Given the description of an element on the screen output the (x, y) to click on. 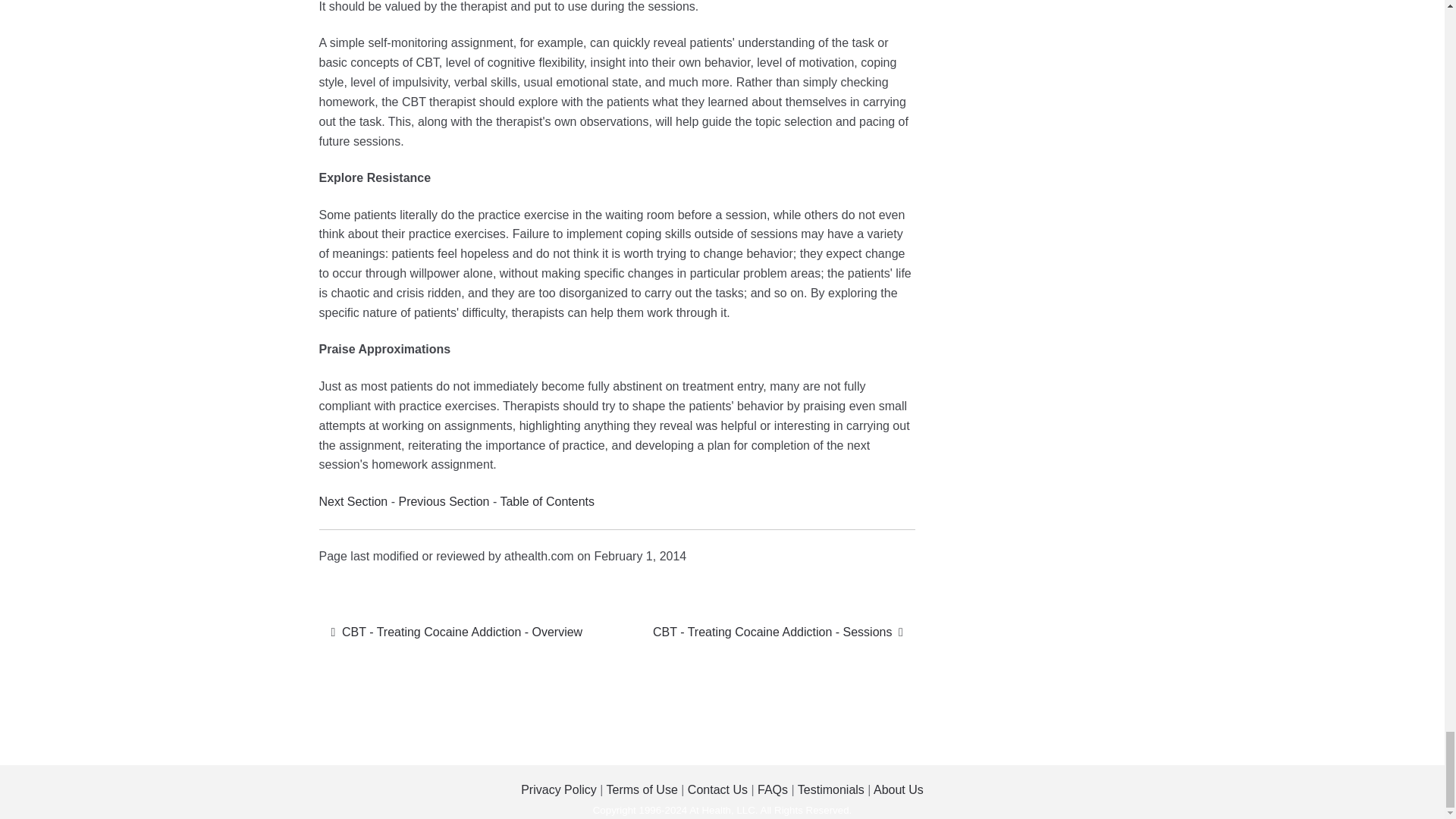
Previous Section  (445, 501)
Contact Us (456, 632)
FAQs (717, 789)
About Us (777, 632)
Privacy Policy (772, 789)
Table of Contents (898, 789)
Terms of Use (558, 789)
Testimonials (546, 501)
